Given the description of an element on the screen output the (x, y) to click on. 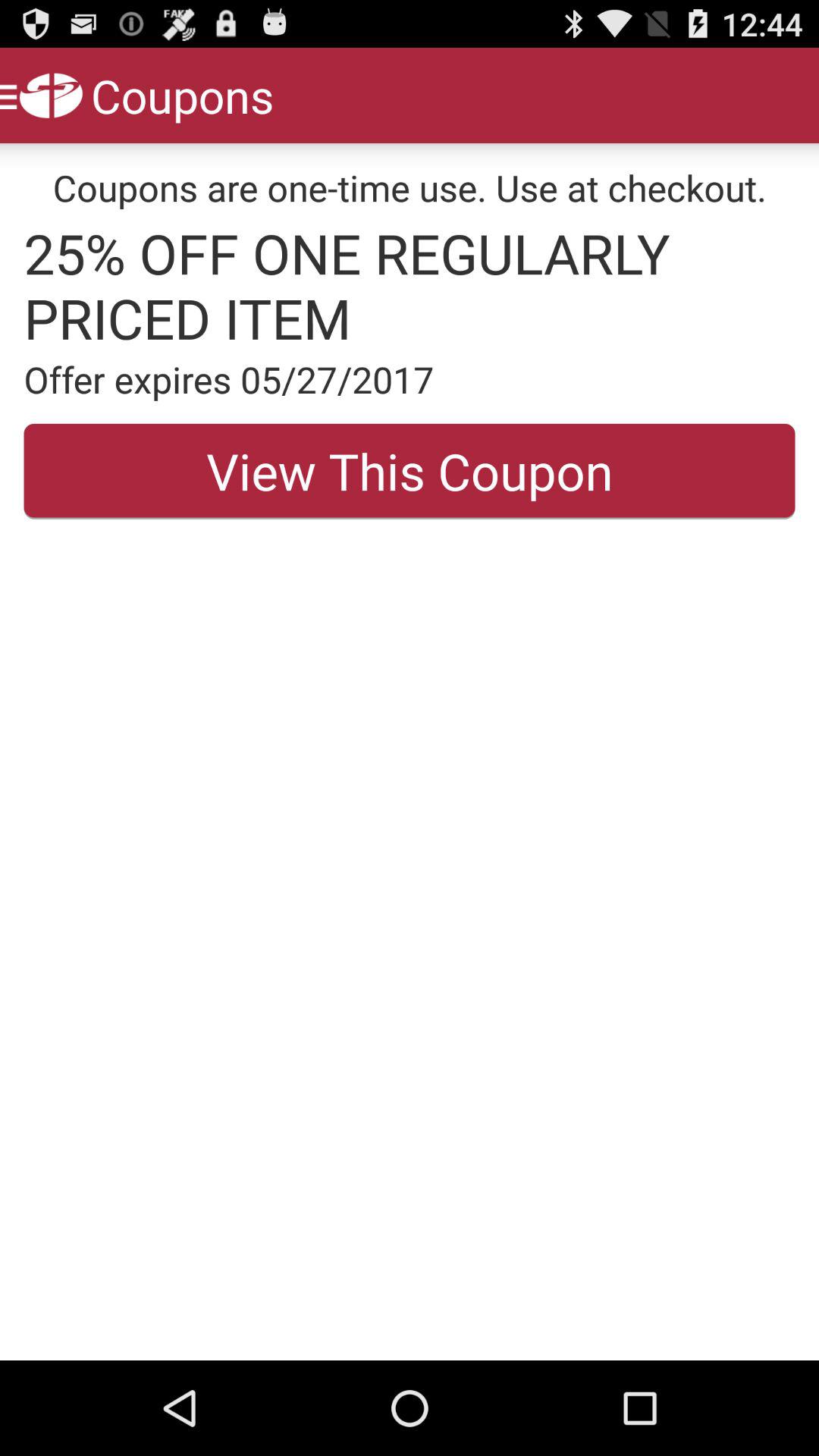
tap the item below the offer expires 05 icon (409, 471)
